Given the description of an element on the screen output the (x, y) to click on. 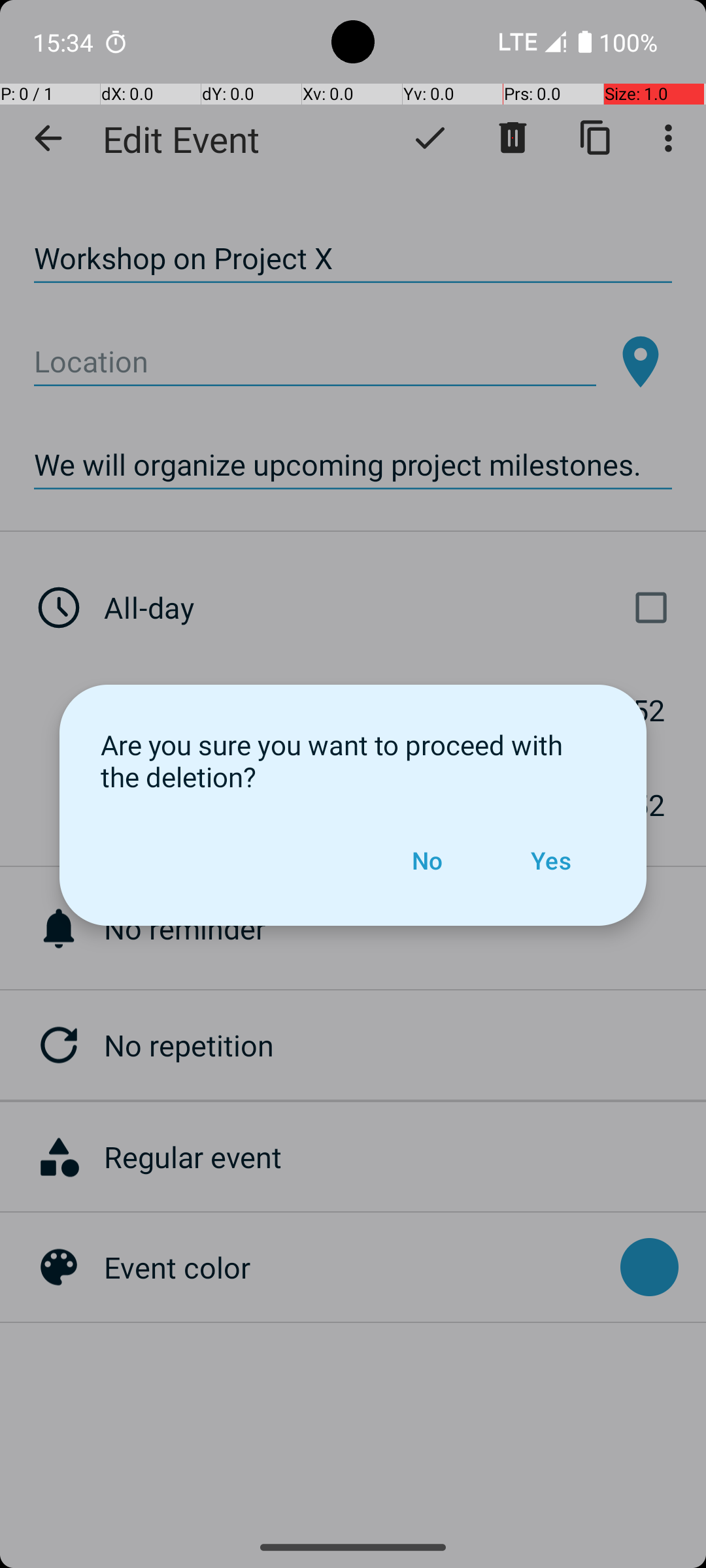
Are you sure you want to proceed with the deletion? Element type: android.widget.TextView (352, 760)
No Element type: android.widget.Button (426, 860)
Yes Element type: android.widget.Button (550, 860)
